Given the description of an element on the screen output the (x, y) to click on. 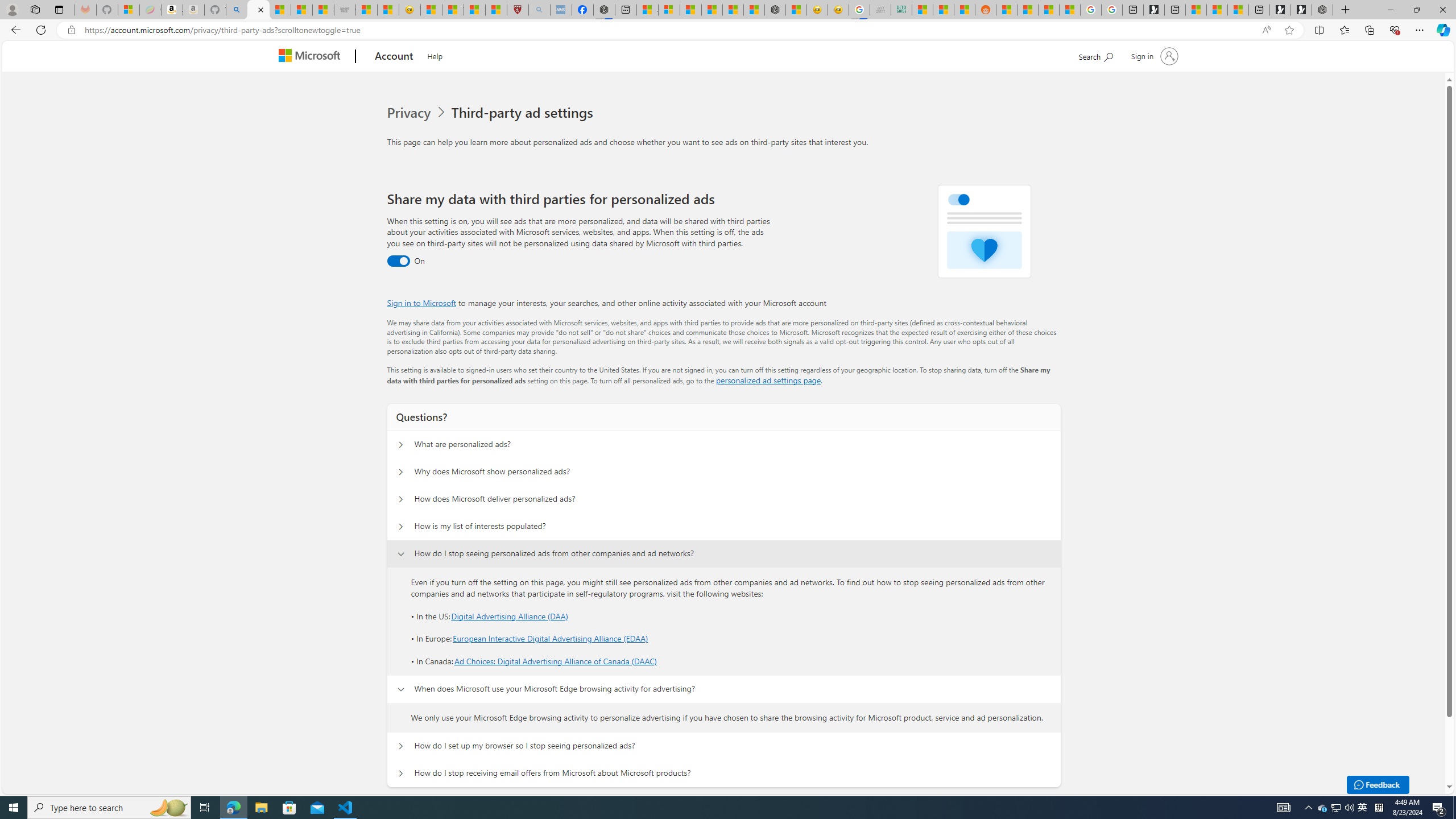
Navy Quest (879, 9)
Digital Advertising Alliance (DAA) (509, 615)
MSNBC - MSN (922, 9)
